Given the description of an element on the screen output the (x, y) to click on. 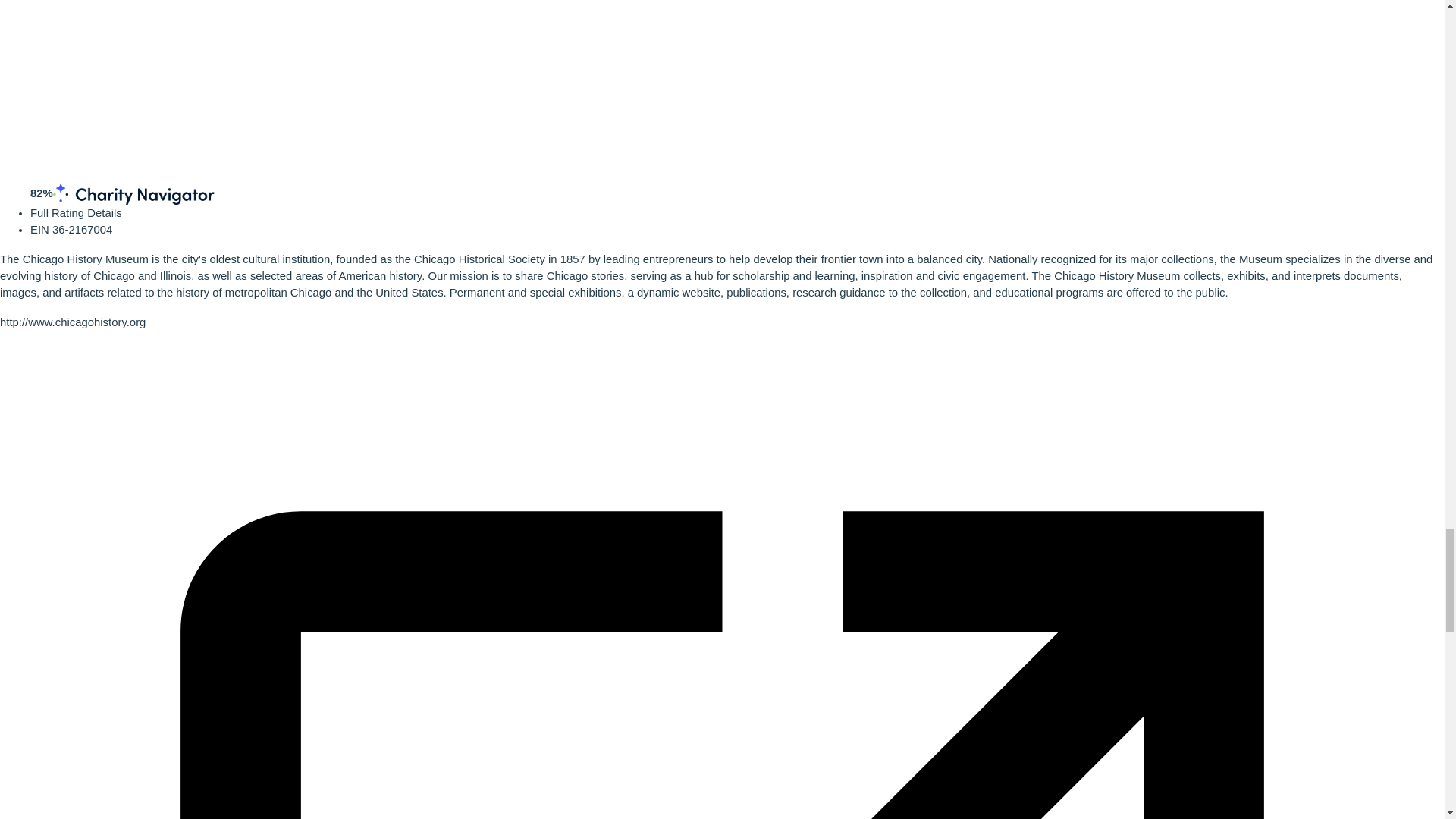
Full Rating Details (76, 213)
